Given the description of an element on the screen output the (x, y) to click on. 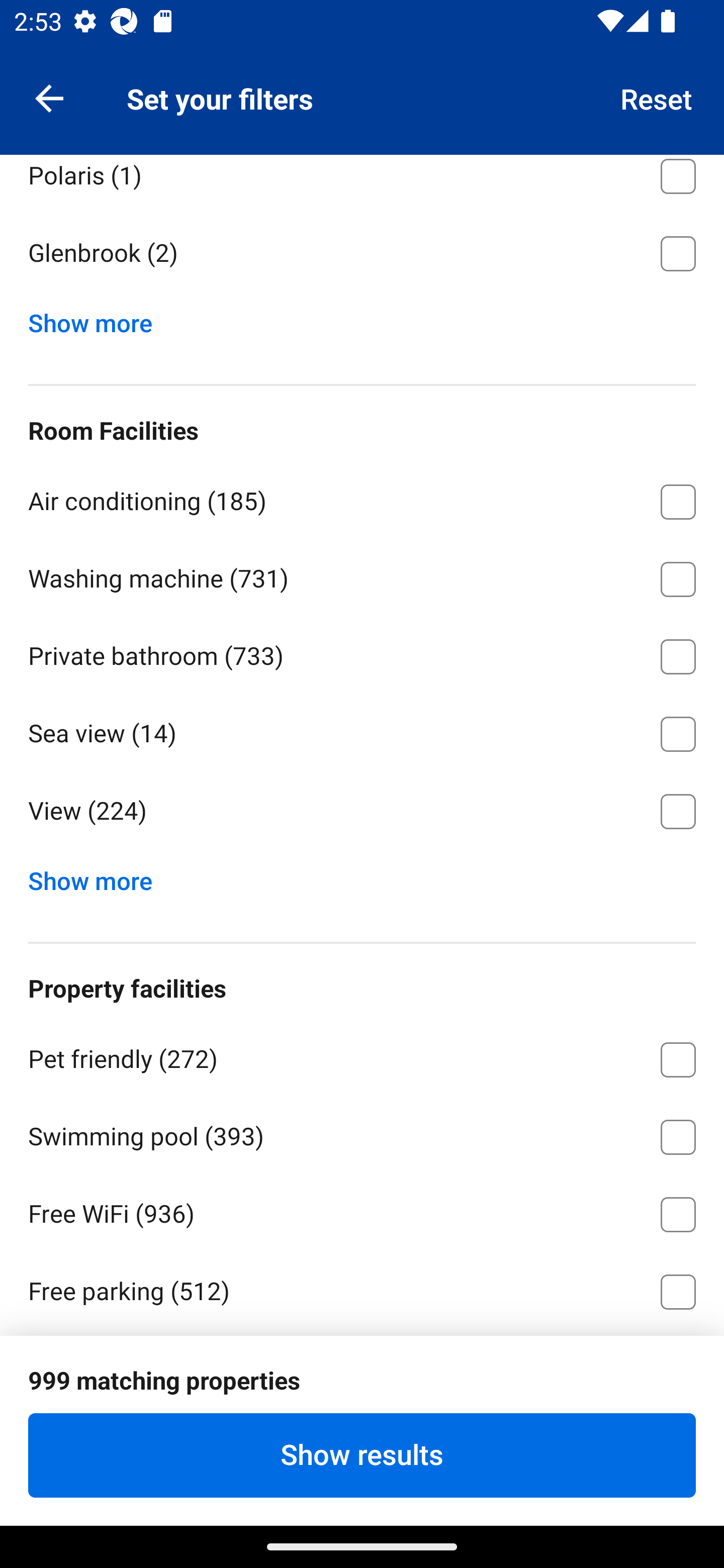
Navigate up (49, 97)
Kings Beach ⁦(63) (361, 95)
Reset (656, 97)
Polaris ⁦(1) (361, 183)
Glenbrook ⁦(2) (361, 253)
Show more (97, 318)
Air conditioning ⁦(185) (361, 498)
Washing machine ⁦(731) (361, 575)
Private bathroom ⁦(733) (361, 652)
Sea view ⁦(14) (361, 730)
View ⁦(224) (361, 811)
Show more (97, 877)
Pet friendly ⁦(272) (361, 1055)
Swimming pool ⁦(393) (361, 1133)
Free WiFi ⁦(936) (361, 1210)
Free parking ⁦(512) (361, 1287)
Show results (361, 1454)
